Given the description of an element on the screen output the (x, y) to click on. 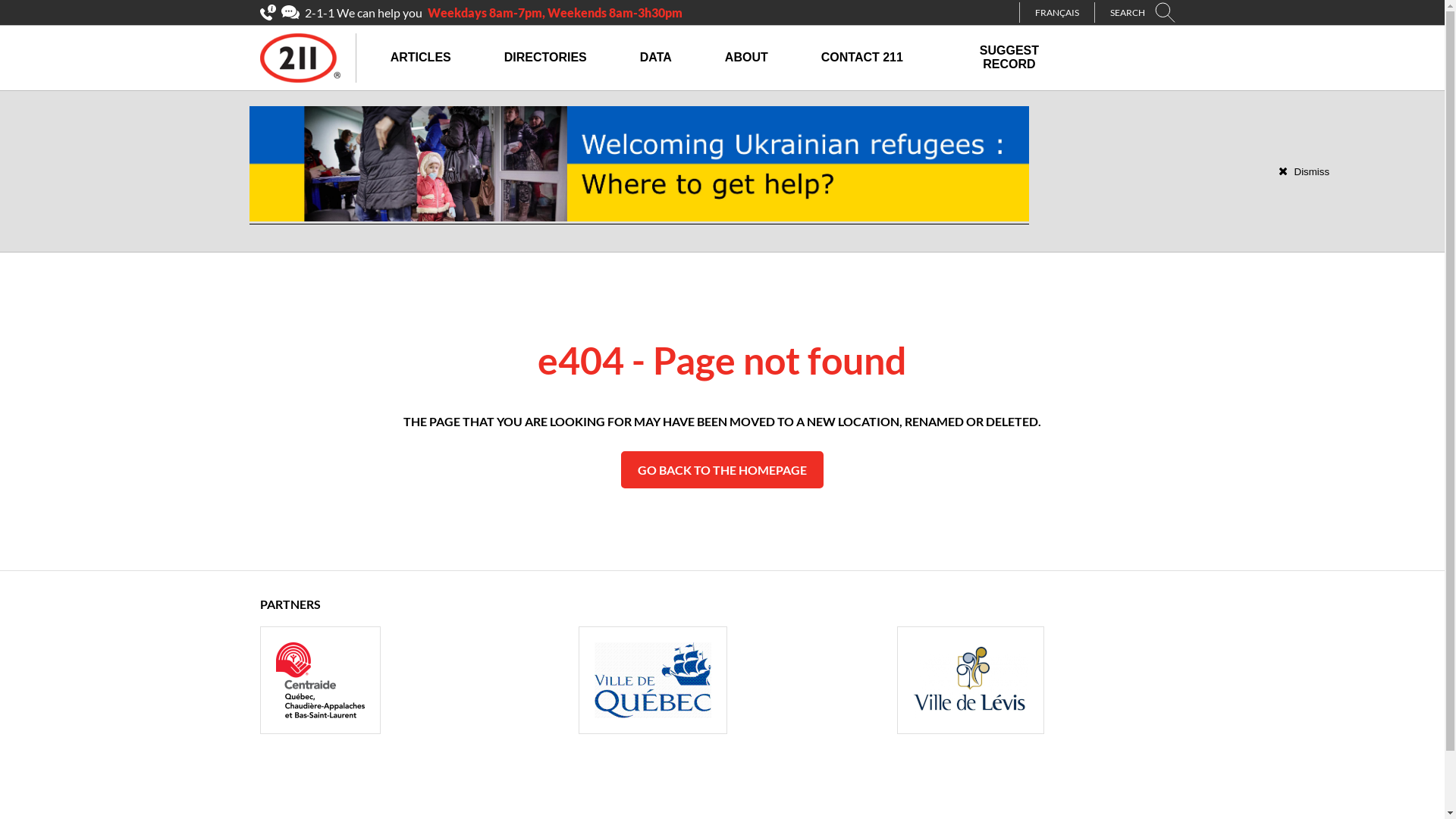
ARTICLES Element type: text (420, 57)
Welcoming Ukrainian refugees Element type: hover (639, 217)
DIRECTORIES Element type: text (545, 57)
Dismiss Element type: text (1303, 171)
ABOUT Element type: text (746, 57)
DATA Element type: text (655, 57)
CONTACT 211 Element type: text (861, 57)
GO BACK TO THE HOMEPAGE Element type: text (722, 469)
SEARCH Element type: text (1147, 12)
SUGGEST RECORD Element type: text (1009, 57)
Chat Element type: hover (289, 12)
